Given the description of an element on the screen output the (x, y) to click on. 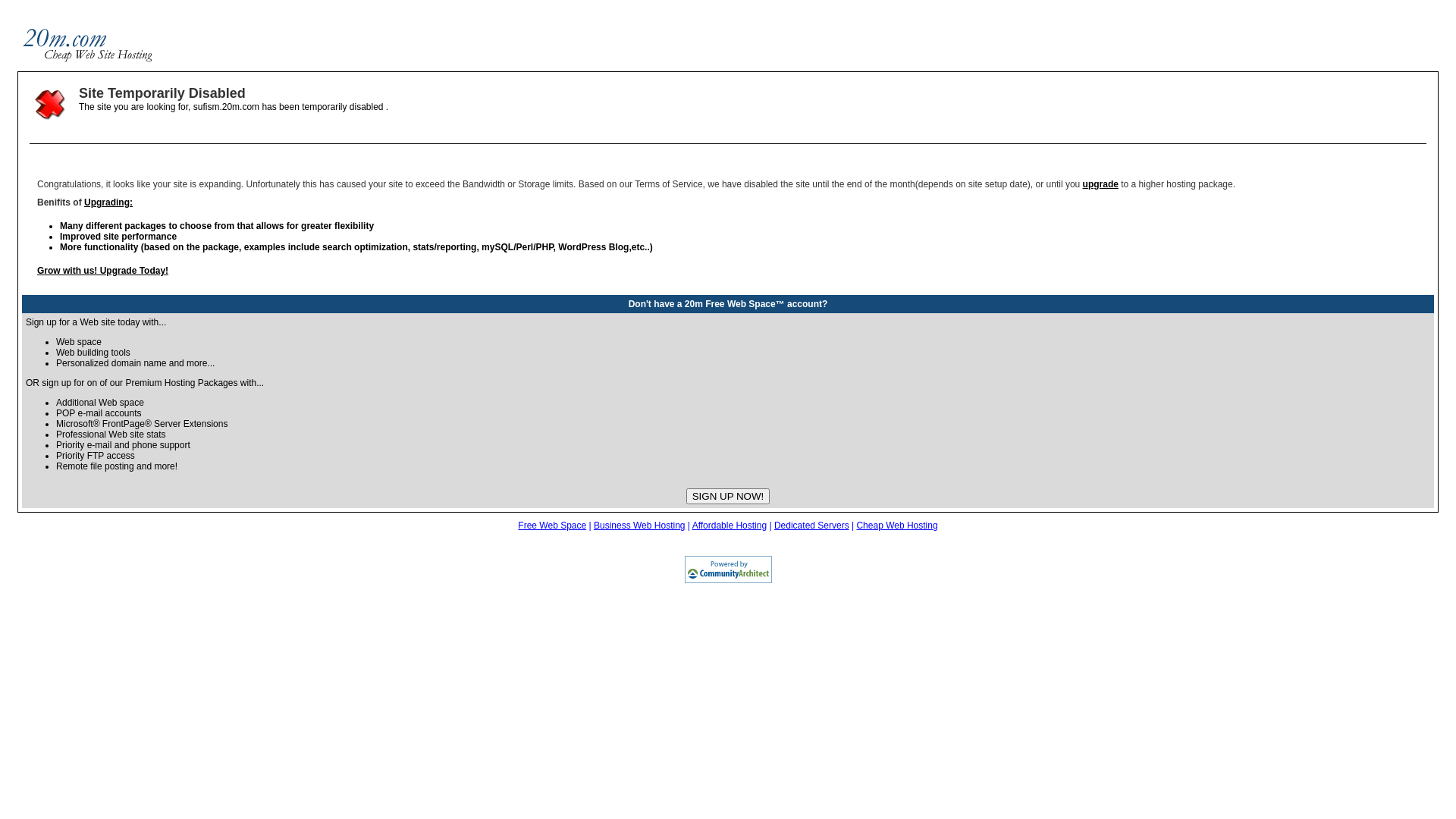
Cheap Web Hosting Element type: text (896, 525)
Dedicated Servers Element type: text (811, 525)
Free Web Space Element type: text (551, 525)
SIGN UP NOW! Element type: text (728, 496)
Affordable Hosting Element type: text (729, 525)
upgrade Element type: text (1100, 183)
Upgrading: Element type: text (108, 202)
Grow with us! Upgrade Today! Element type: text (102, 270)
Business Web Hosting Element type: text (639, 525)
